Given the description of an element on the screen output the (x, y) to click on. 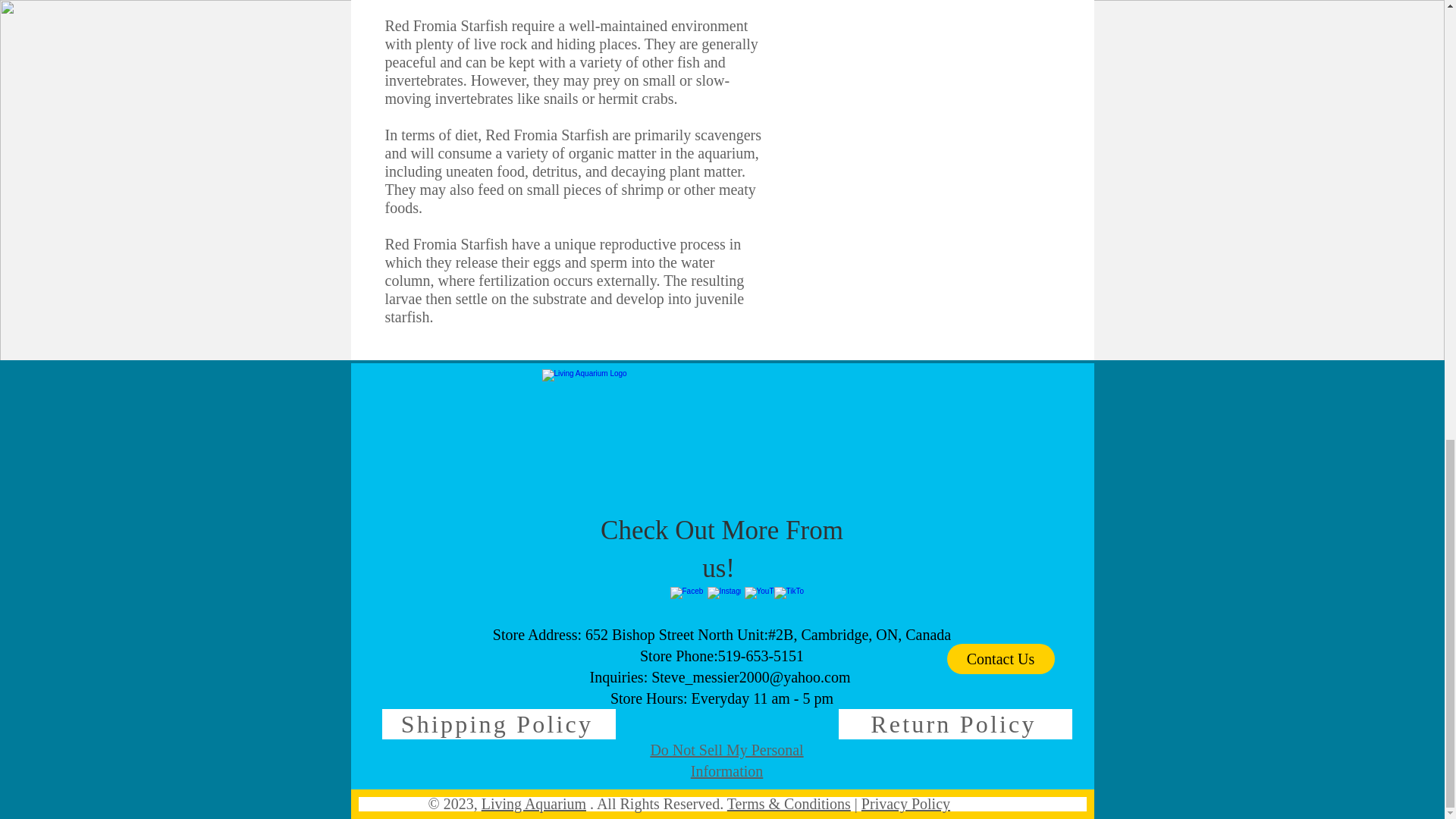
Privacy Policy (905, 803)
Living Aquarium (533, 803)
Shipping Policy (498, 724)
Contact Us (1000, 658)
Return Policy (954, 724)
Living Aquarium Logo.jpeg (721, 440)
Do Not Sell My Personal Information (727, 760)
